Given the description of an element on the screen output the (x, y) to click on. 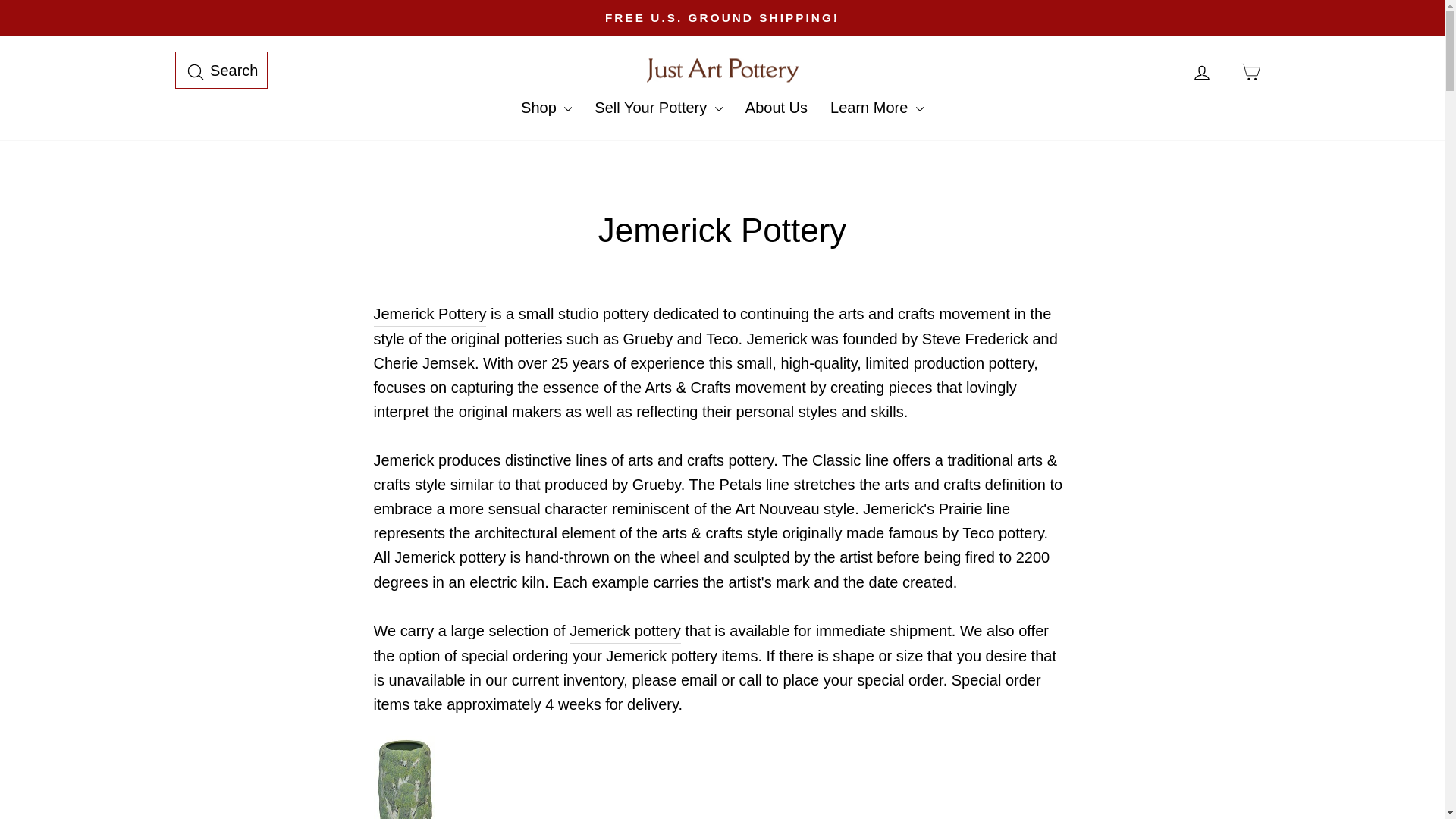
Jemerick Pottery (429, 314)
FREE U.S. GROUND SHIPPING! (722, 17)
Jemerick Pottery (1201, 69)
Jemerick Pottery (625, 631)
account (449, 557)
icon-search Search (1201, 72)
icon-search (221, 69)
